Given the description of an element on the screen output the (x, y) to click on. 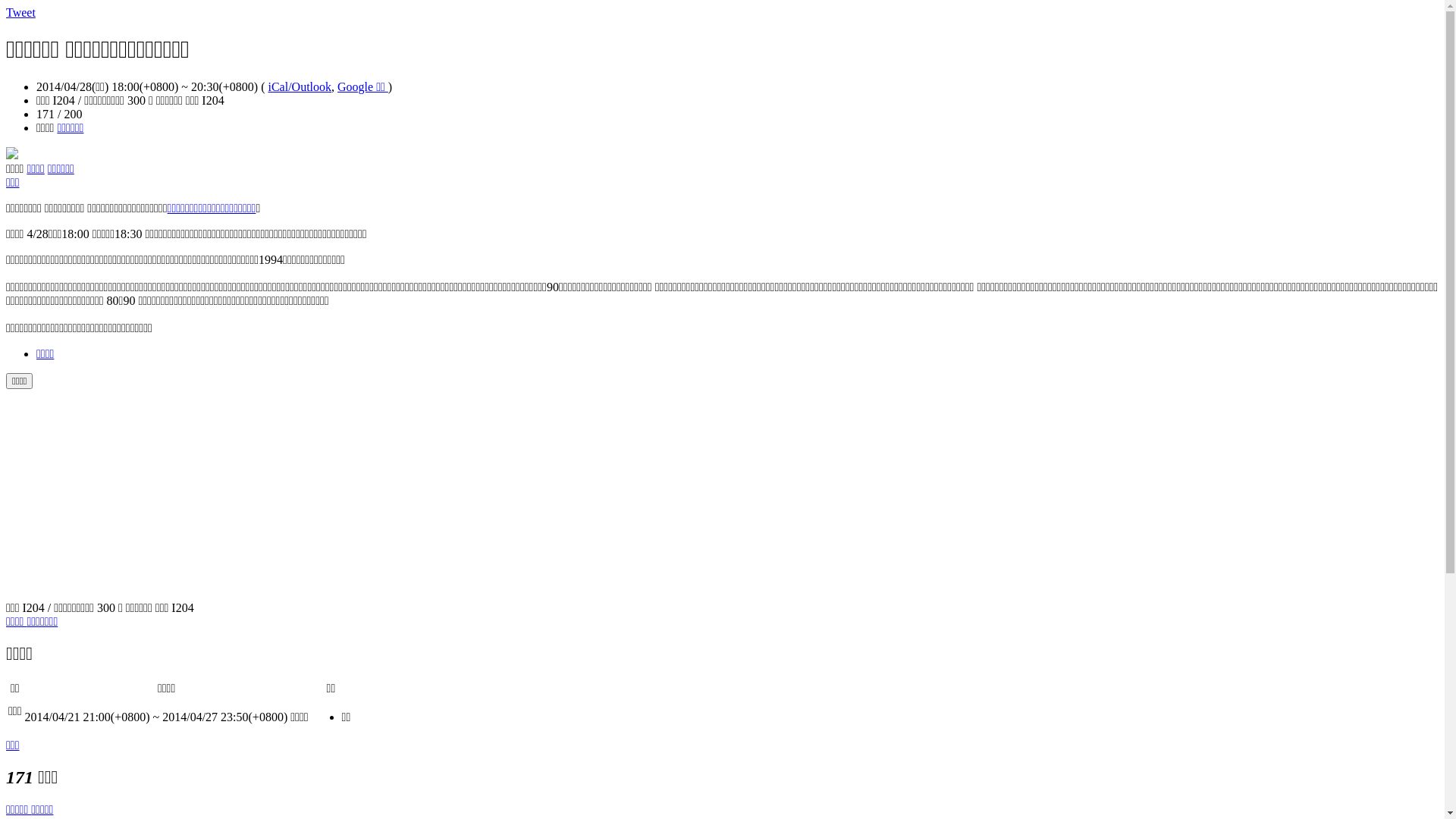
iCal/Outlook Element type: text (299, 86)
Tweet Element type: text (20, 12)
